Given the description of an element on the screen output the (x, y) to click on. 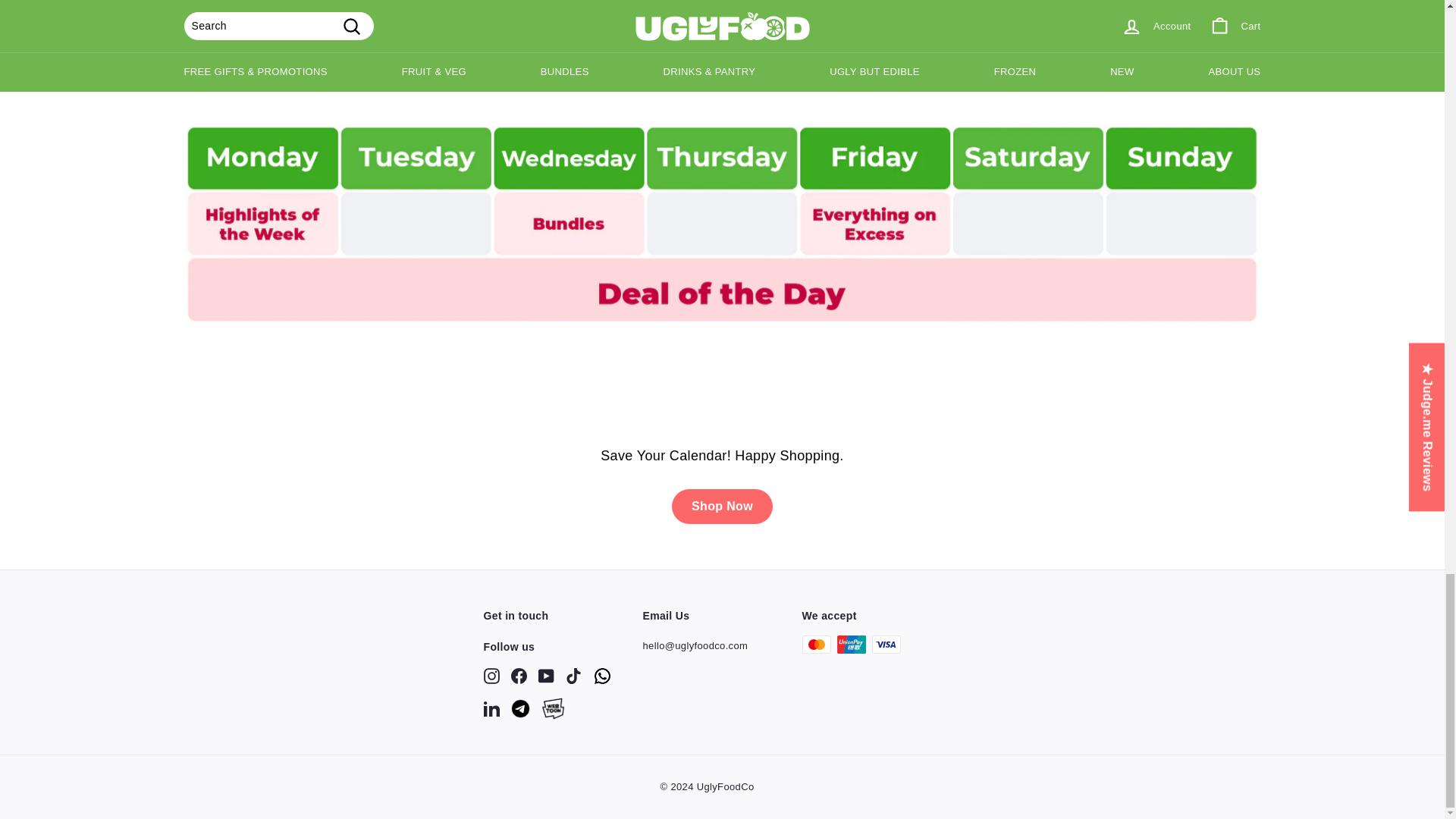
UglyFoodCo on LinkedIn (491, 708)
UglyFoodCo on Instagram (491, 675)
UglyFoodCo on YouTube (546, 675)
UglyFoodCo on TikTok (573, 675)
Union Pay (851, 644)
Visa (886, 644)
Mastercard (816, 644)
Whatsapp (601, 675)
Webtoon (552, 708)
UglyFoodCo on Facebook (519, 675)
Telegram (520, 708)
